Given the description of an element on the screen output the (x, y) to click on. 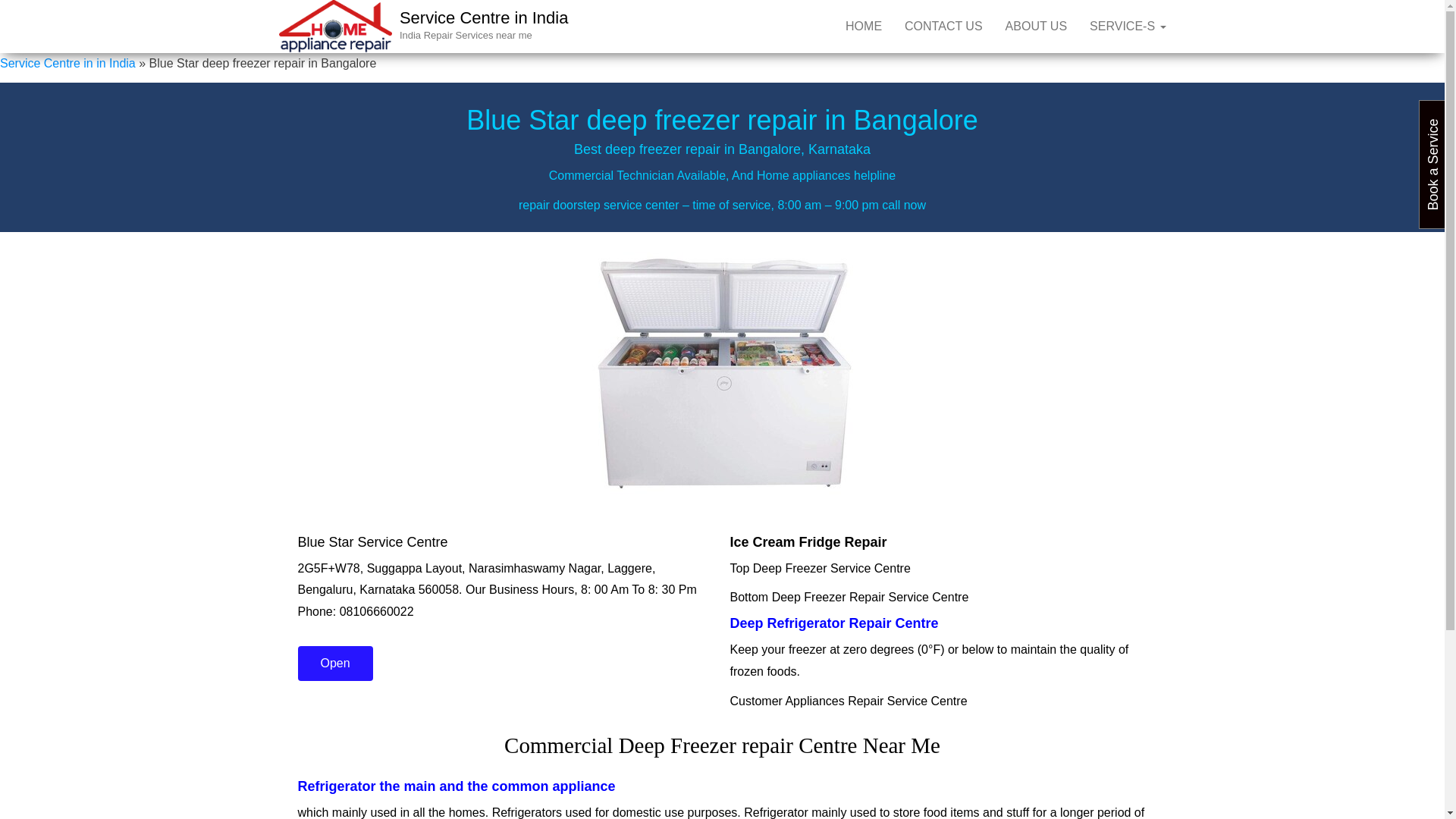
Service Centre in India (483, 17)
CONTACT US (943, 26)
About Us (1036, 26)
SERVICE-S (1127, 26)
Home (863, 26)
Contact Us (943, 26)
Service-s (1127, 26)
HOME (863, 26)
ABOUT US (1036, 26)
